Given the description of an element on the screen output the (x, y) to click on. 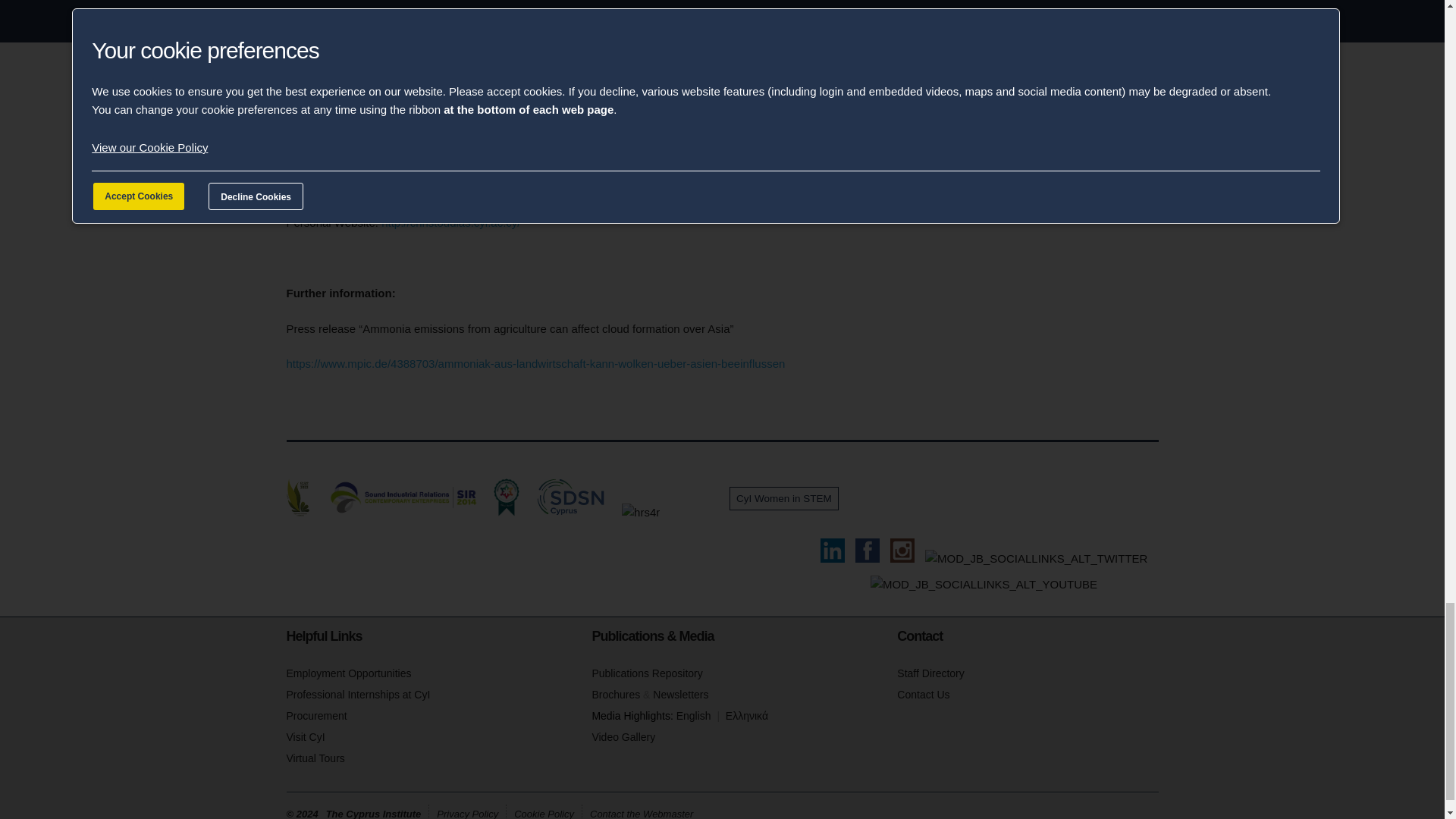
Newsletter (679, 694)
Employer of Gender Equality (694, 512)
Publications (646, 673)
